Given the description of an element on the screen output the (x, y) to click on. 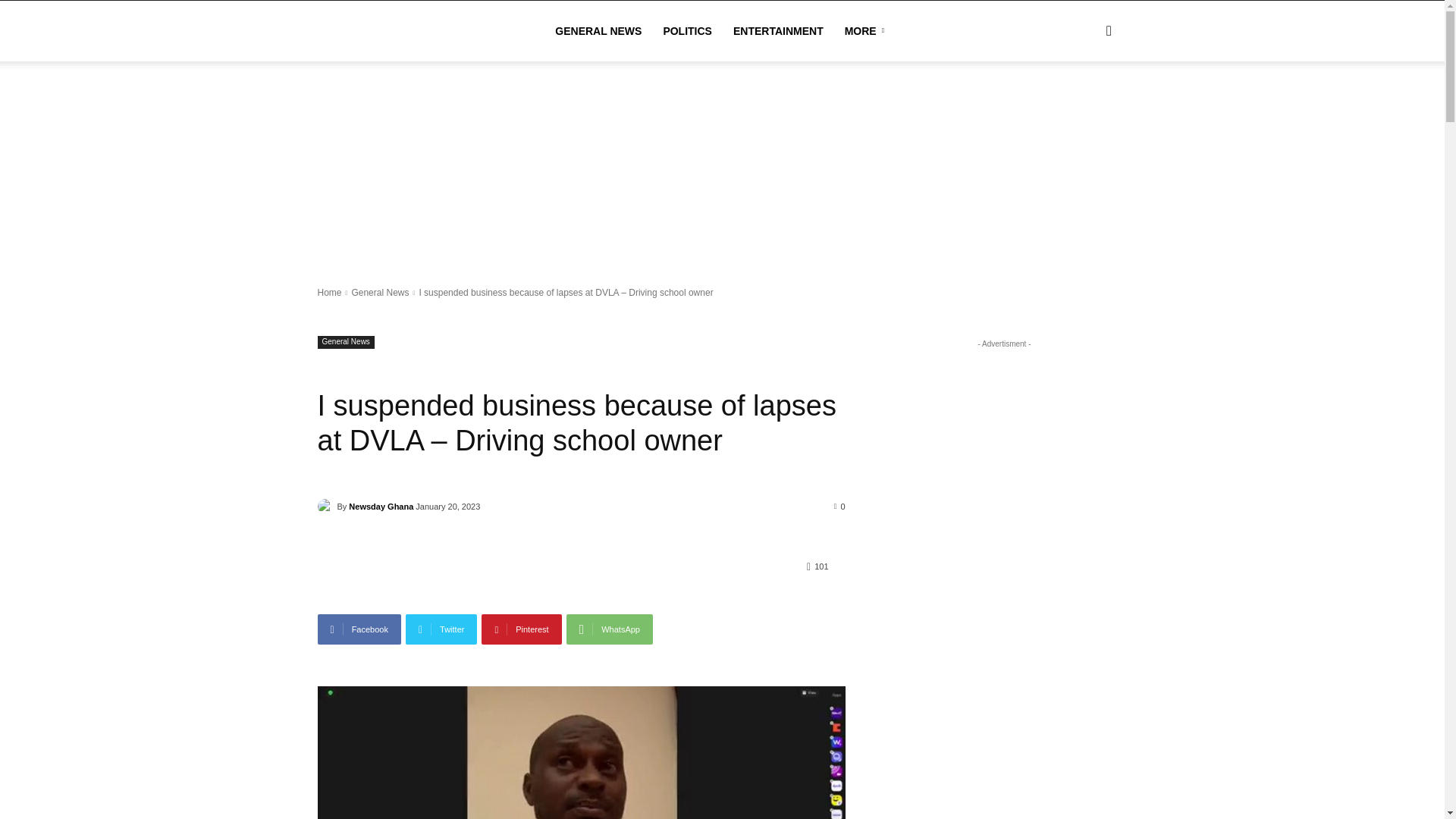
Facebook (358, 629)
Pinterest (520, 629)
ENTERTAINMENT (778, 30)
Search (1085, 103)
Pinterest (520, 629)
View all posts in General News (379, 292)
Newsday Ghana (381, 506)
General News (379, 292)
Home (328, 292)
WhatsApp (609, 629)
Twitter (441, 629)
Newsday Ghana (326, 506)
WhatsApp (609, 629)
GENERAL NEWS (598, 30)
Facebook (358, 629)
